Given the description of an element on the screen output the (x, y) to click on. 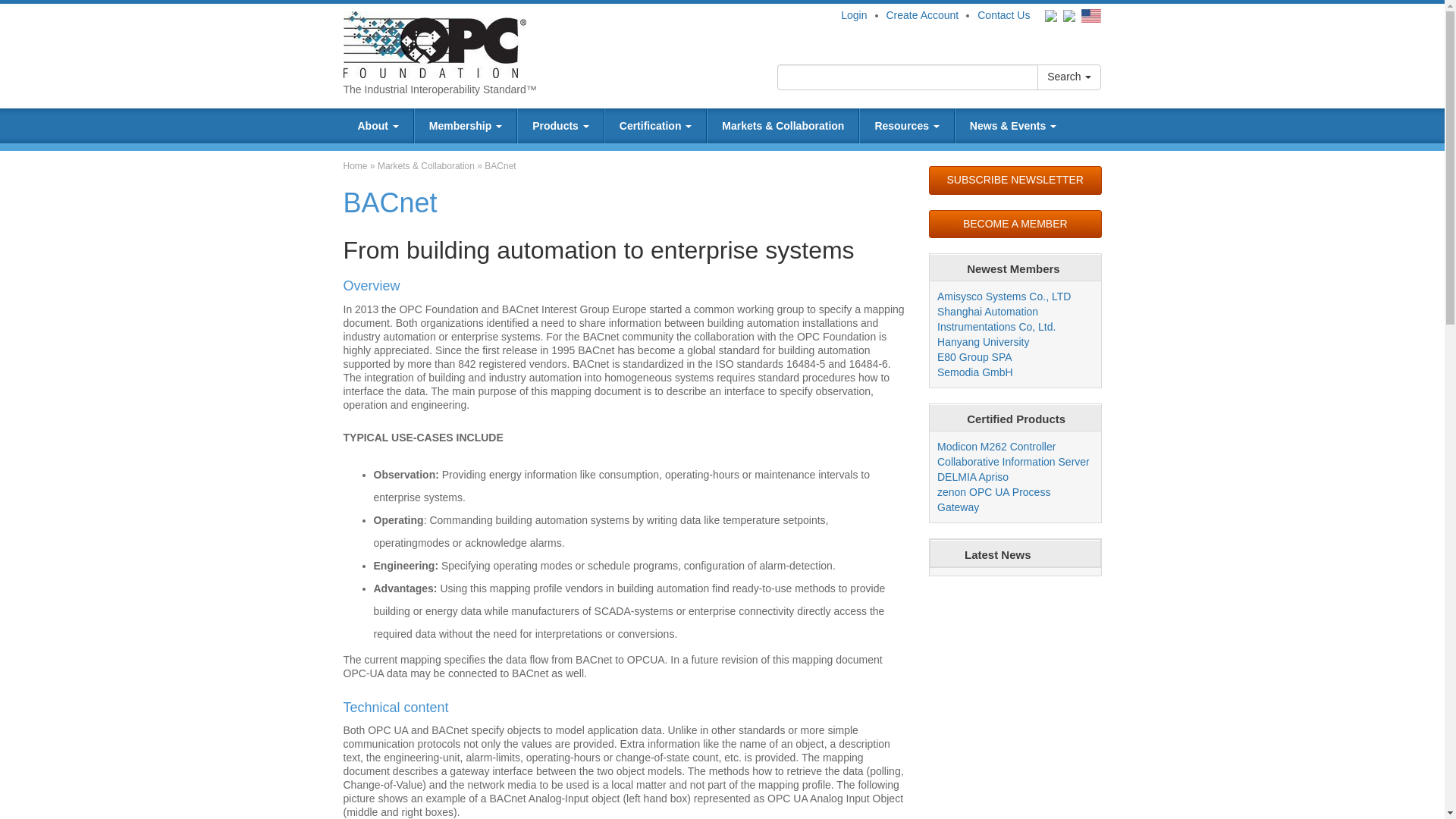
About (377, 125)
Login (853, 15)
Products (561, 125)
Create Account (921, 15)
Search (1068, 77)
Home (354, 165)
Contact Us (1002, 15)
Membership (465, 125)
SUBSCRIBE NEWSLETTER (1015, 180)
BECOME A MEMBER (1015, 224)
OPC Foundation (433, 43)
